Given the description of an element on the screen output the (x, y) to click on. 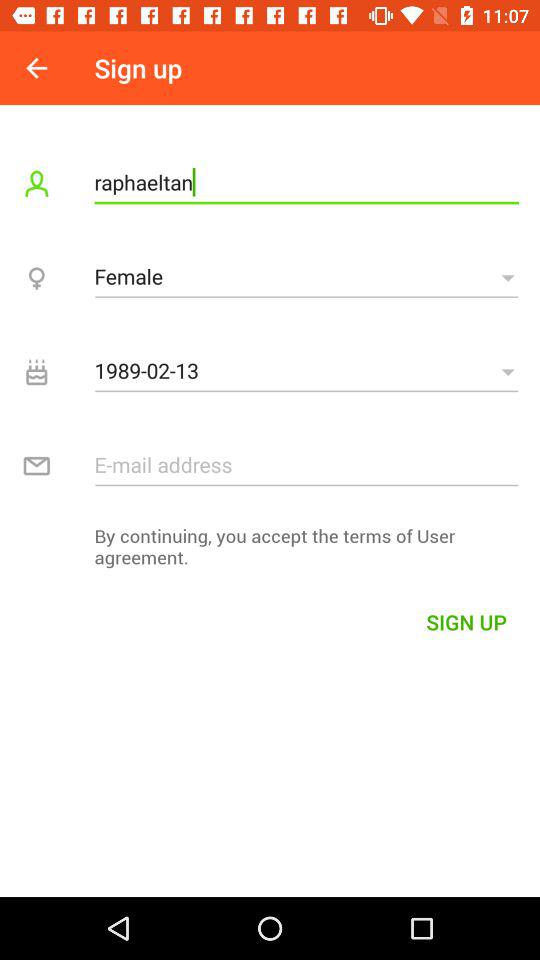
flip to raphaeltan item (306, 181)
